Given the description of an element on the screen output the (x, y) to click on. 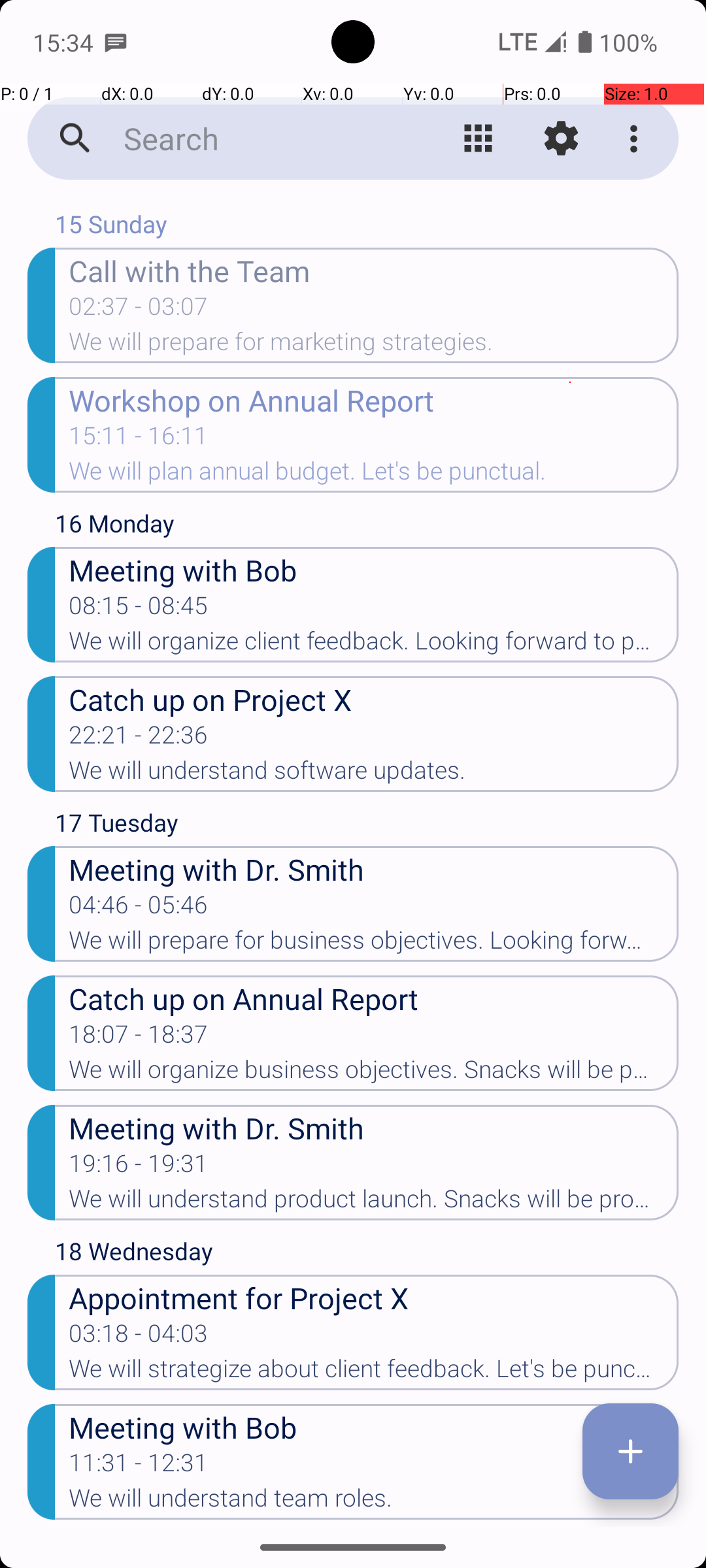
02:37 - 03:07 Element type: android.widget.TextView (137, 309)
We will prepare for marketing strategies. Element type: android.widget.TextView (373, 345)
15:11 - 16:11 Element type: android.widget.TextView (137, 439)
We will plan annual budget. Let's be punctual. Element type: android.widget.TextView (373, 474)
08:15 - 08:45 Element type: android.widget.TextView (137, 609)
We will organize client feedback. Looking forward to productive discussions. Element type: android.widget.TextView (373, 644)
22:21 - 22:36 Element type: android.widget.TextView (137, 738)
We will understand software updates. Element type: android.widget.TextView (373, 773)
04:46 - 05:46 Element type: android.widget.TextView (137, 908)
We will prepare for business objectives. Looking forward to productive discussions. Element type: android.widget.TextView (373, 943)
18:07 - 18:37 Element type: android.widget.TextView (137, 1037)
We will organize business objectives. Snacks will be provided. Element type: android.widget.TextView (373, 1073)
19:16 - 19:31 Element type: android.widget.TextView (137, 1167)
We will understand product launch. Snacks will be provided. Element type: android.widget.TextView (373, 1202)
03:18 - 04:03 Element type: android.widget.TextView (137, 1337)
We will strategize about client feedback. Let's be punctual. Element type: android.widget.TextView (373, 1372)
11:31 - 12:31 Element type: android.widget.TextView (137, 1466)
We will understand team roles. Element type: android.widget.TextView (373, 1501)
